Given the description of an element on the screen output the (x, y) to click on. 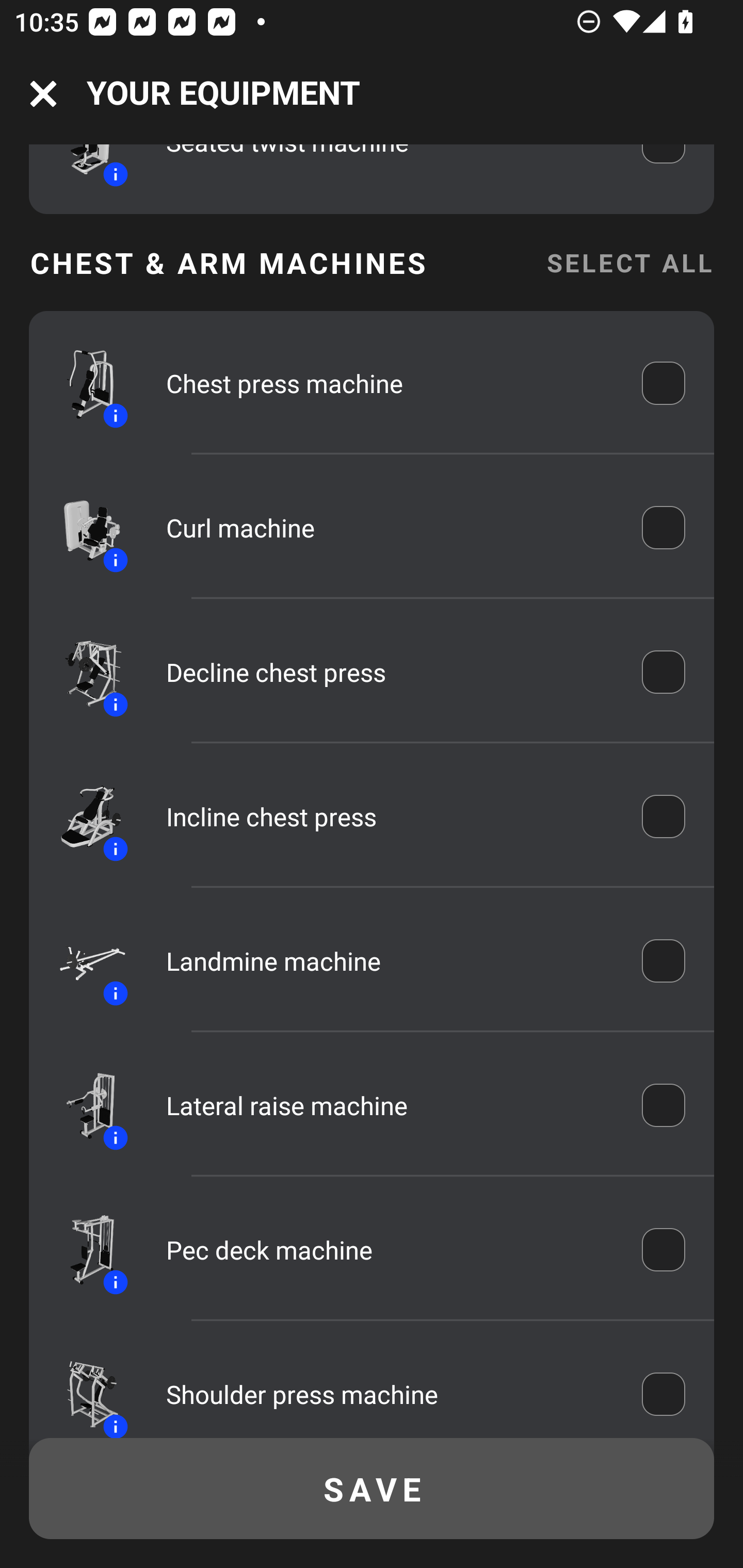
Navigation icon (43, 93)
SELECT ALL (629, 262)
Equipment icon Information icon (82, 383)
Chest press machine (389, 383)
Equipment icon Information icon (82, 527)
Curl machine (389, 527)
Equipment icon Information icon (82, 671)
Decline chest press (389, 671)
Equipment icon Information icon (82, 816)
Incline chest press (389, 816)
Equipment icon Information icon (82, 960)
Landmine machine (389, 960)
Equipment icon Information icon (82, 1104)
Lateral raise machine (389, 1105)
Equipment icon Information icon (82, 1249)
Pec deck machine (389, 1249)
Equipment icon Information icon (82, 1388)
Shoulder press machine (389, 1394)
SAVE (371, 1488)
